Given the description of an element on the screen output the (x, y) to click on. 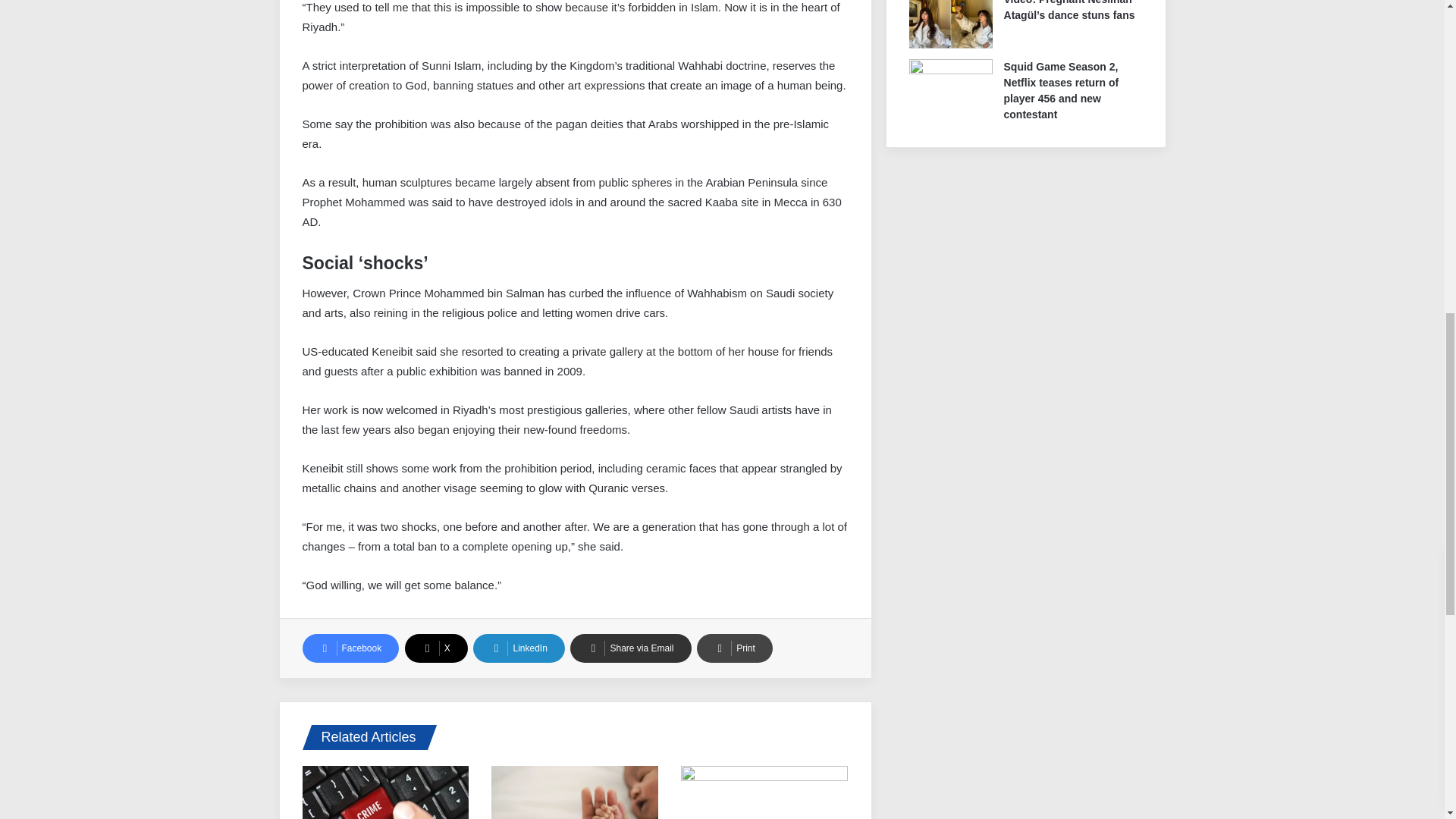
Share via Email (630, 647)
Facebook (349, 647)
Facebook (349, 647)
Share via Email (630, 647)
X (435, 647)
LinkedIn (518, 647)
X (435, 647)
Print (735, 647)
Print (735, 647)
LinkedIn (518, 647)
